Given the description of an element on the screen output the (x, y) to click on. 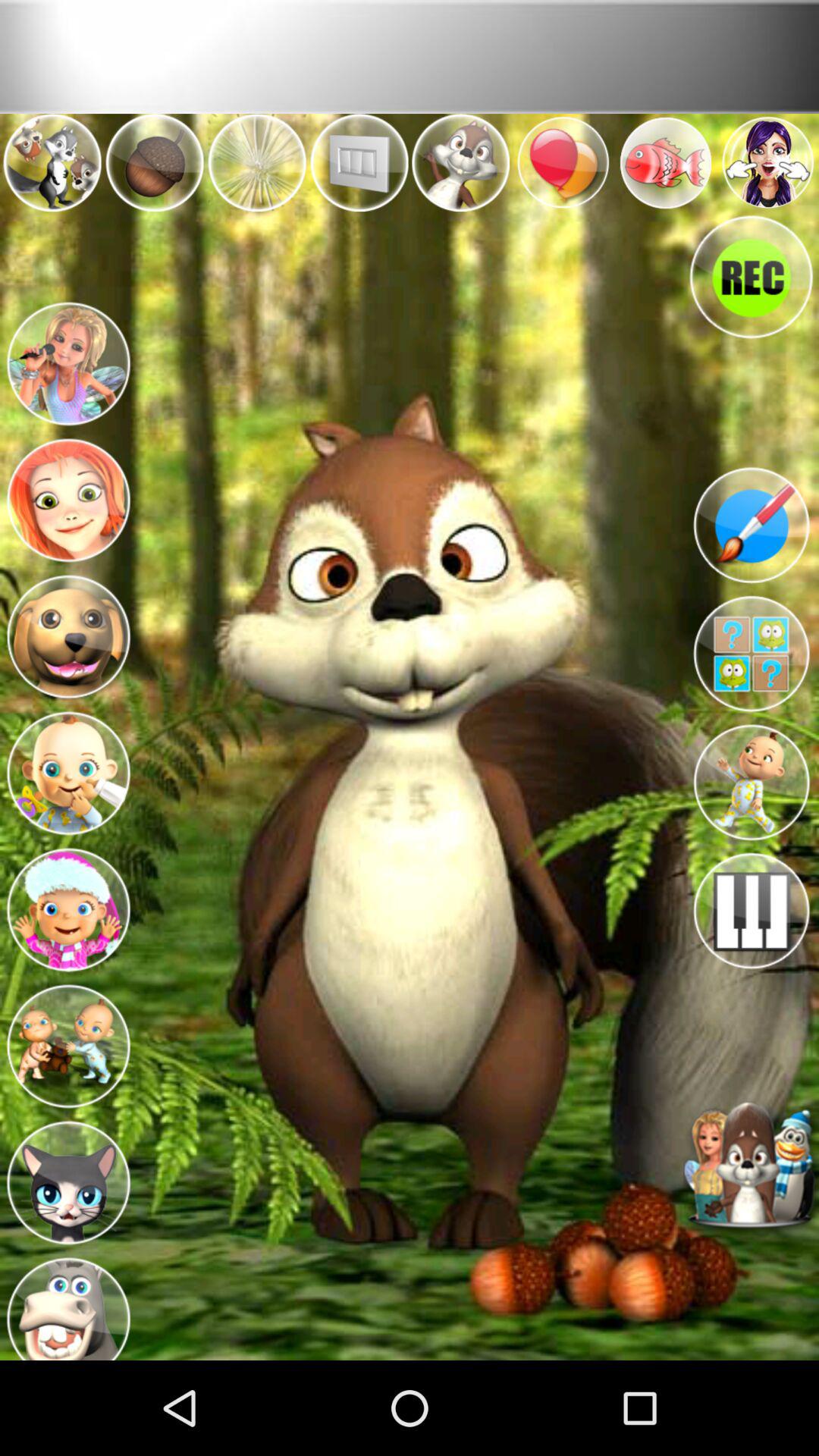
press to draw (751, 525)
